Given the description of an element on the screen output the (x, y) to click on. 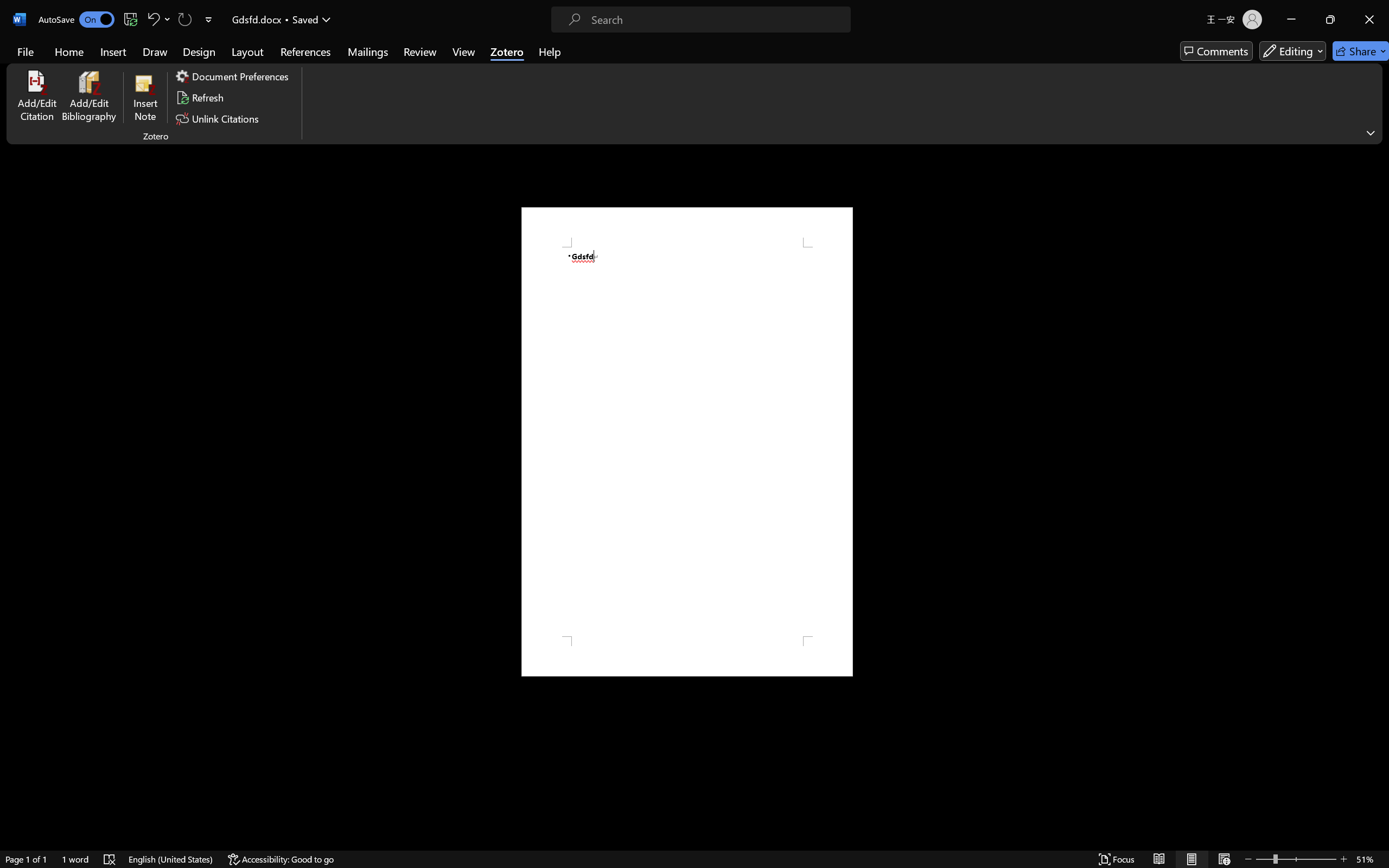
Page 1 content (686, 441)
